Given the description of an element on the screen output the (x, y) to click on. 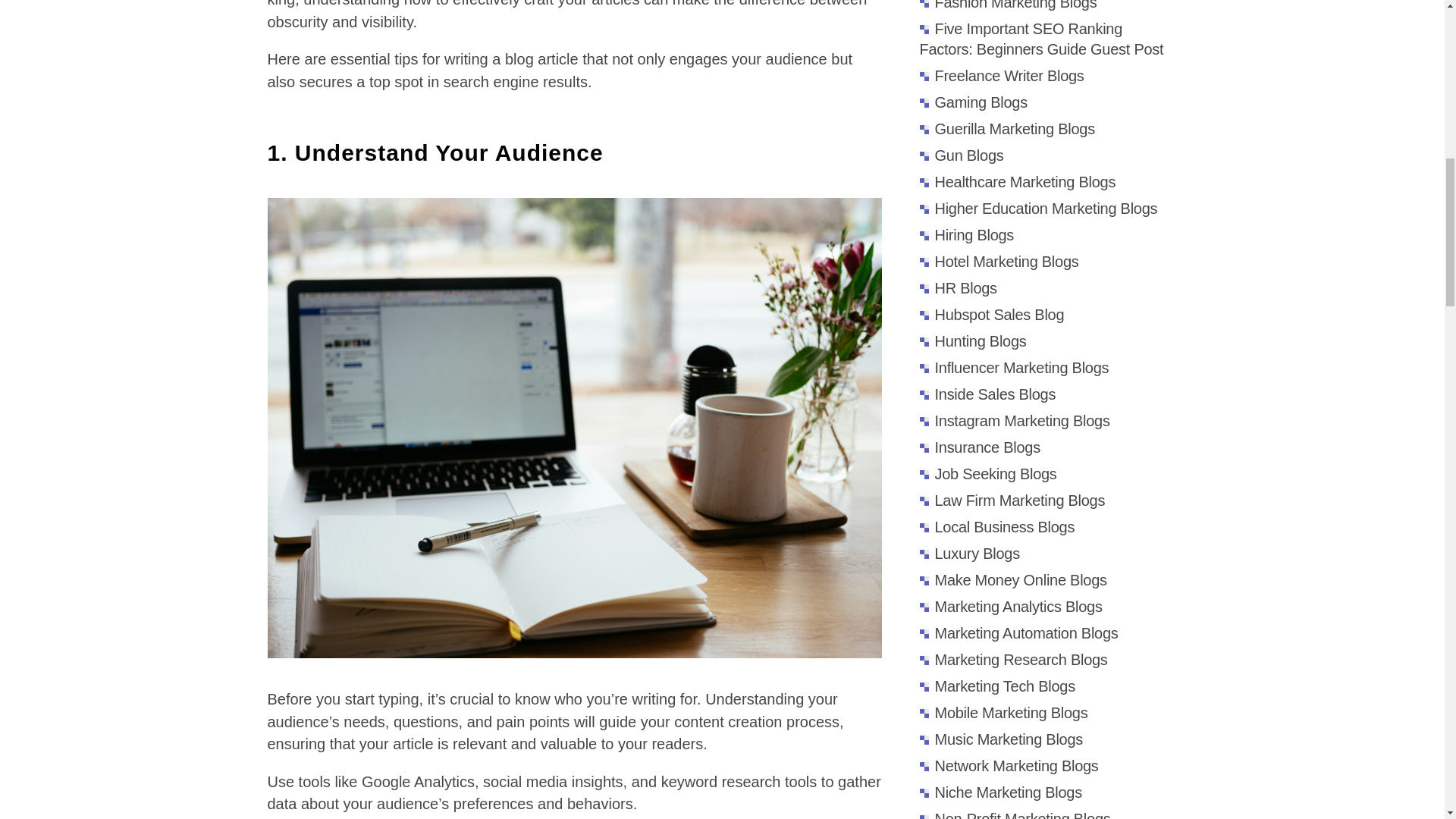
Fashion Marketing Blogs (1007, 5)
